Given the description of an element on the screen output the (x, y) to click on. 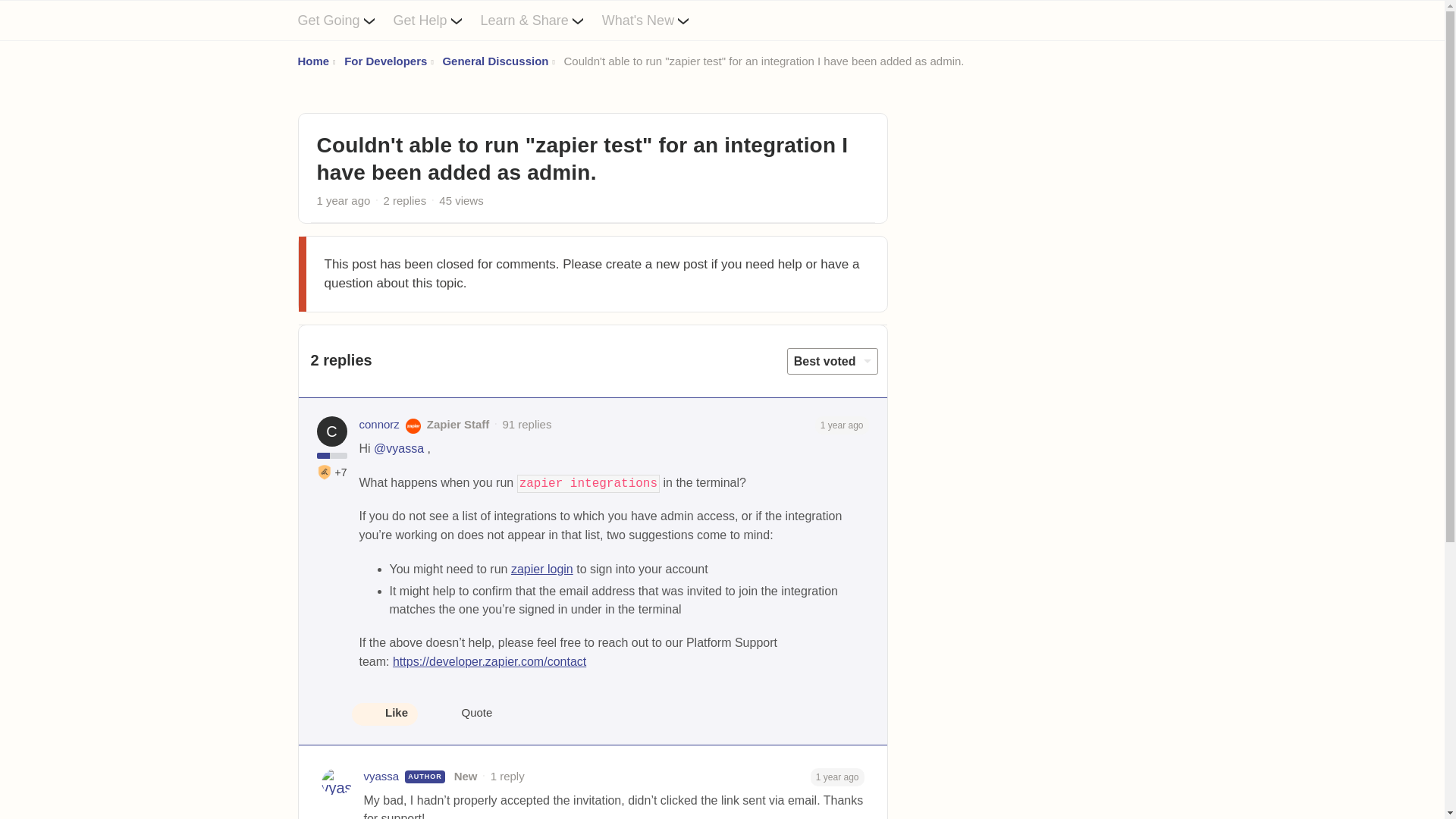
First Best Answer (324, 472)
Home (313, 61)
connorz (378, 425)
Get Going (345, 20)
connorz (378, 425)
2 replies (405, 200)
For Developers (384, 61)
C (332, 431)
vyassa (381, 776)
zapier login (542, 568)
1 year ago (842, 423)
Get Help (436, 20)
General Discussion (495, 61)
What's New (654, 20)
